Given the description of an element on the screen output the (x, y) to click on. 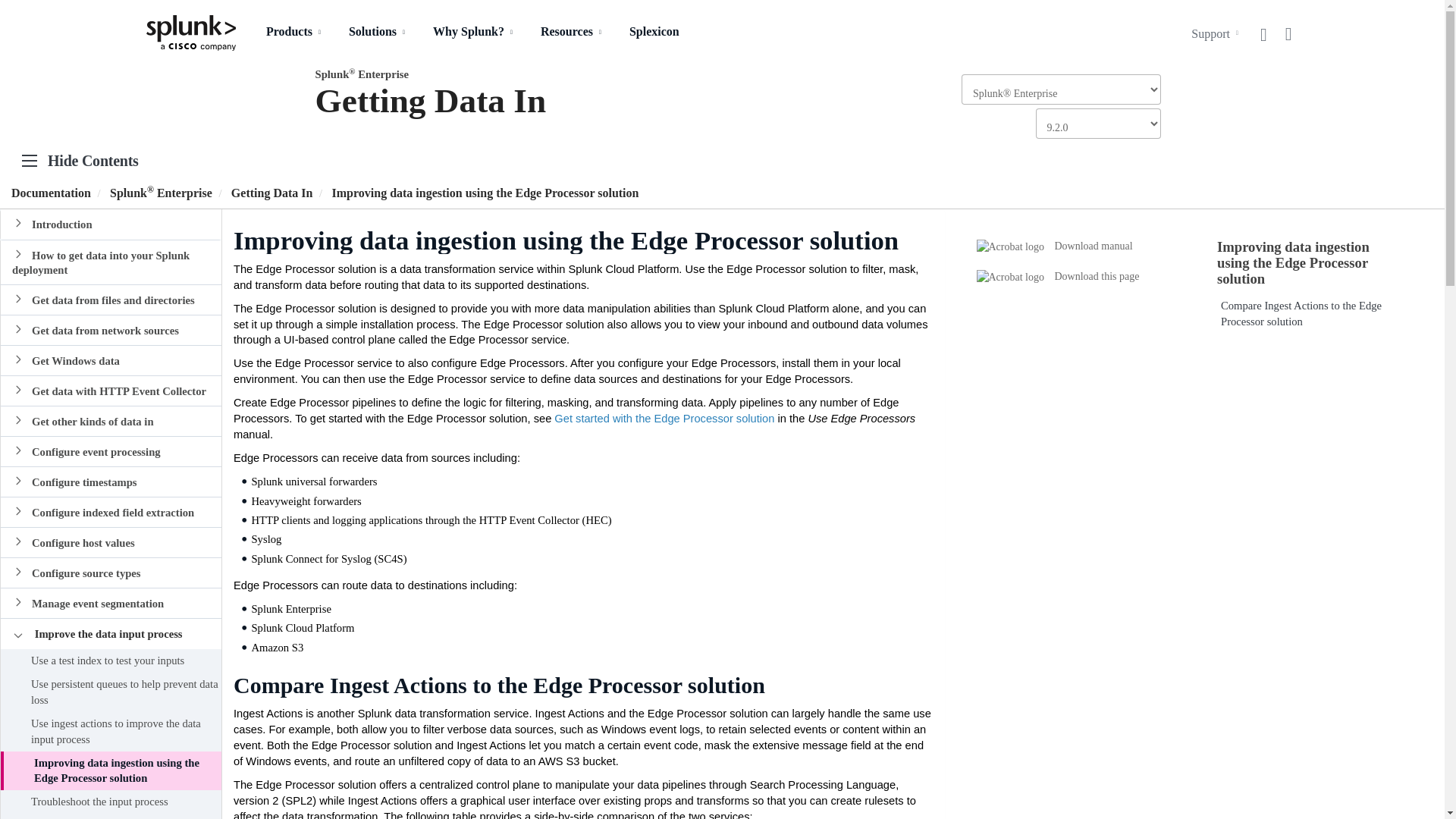
Solutions (379, 39)
Products (295, 39)
logo (191, 26)
